Given the description of an element on the screen output the (x, y) to click on. 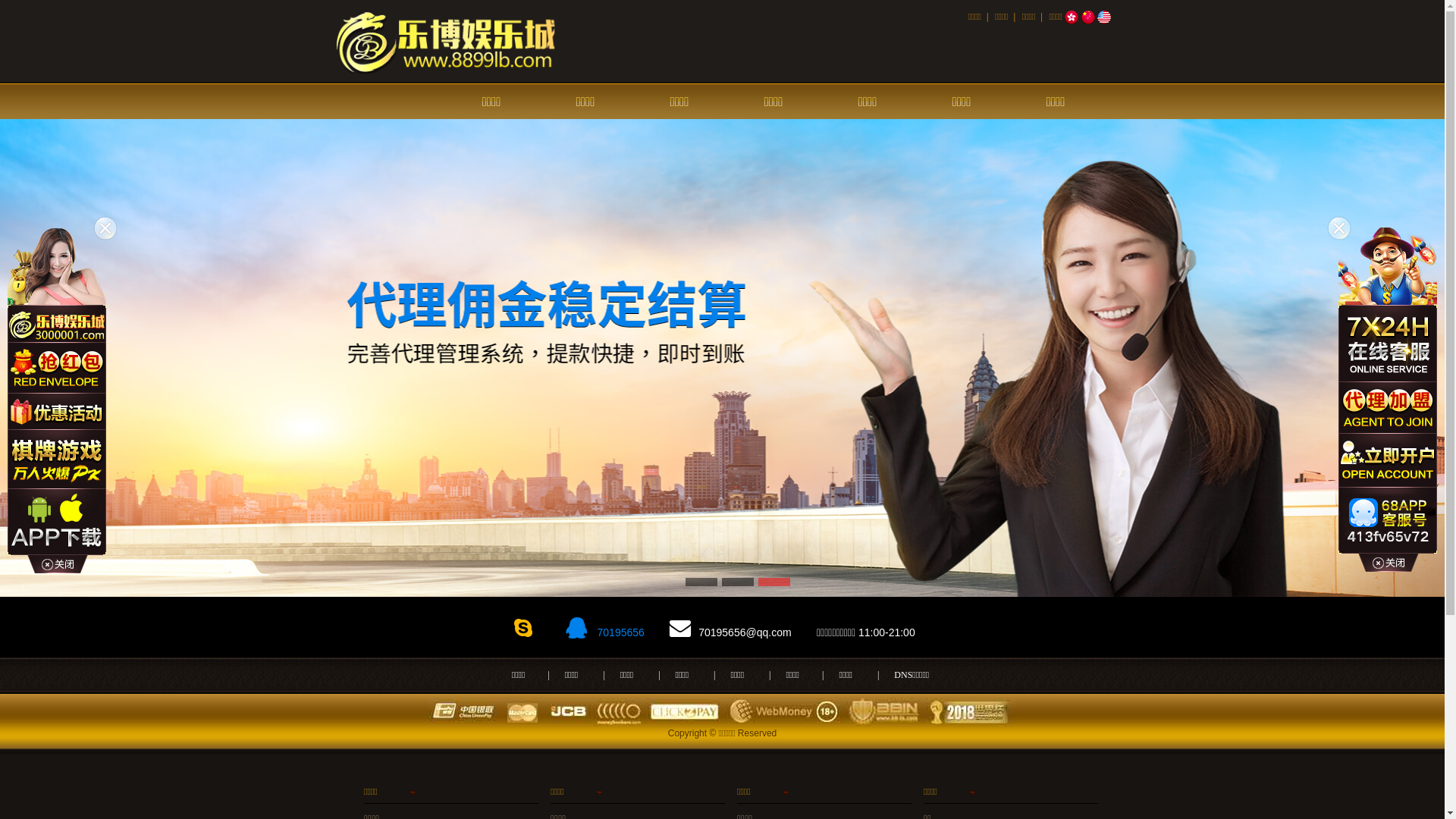
70195656 Element type: text (619, 632)
